Given the description of an element on the screen output the (x, y) to click on. 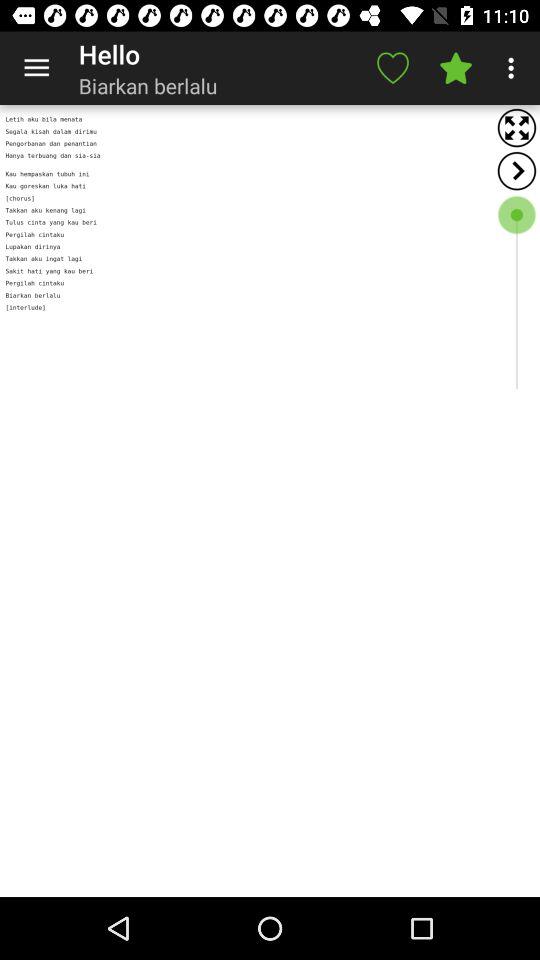
next option (516, 170)
